Given the description of an element on the screen output the (x, y) to click on. 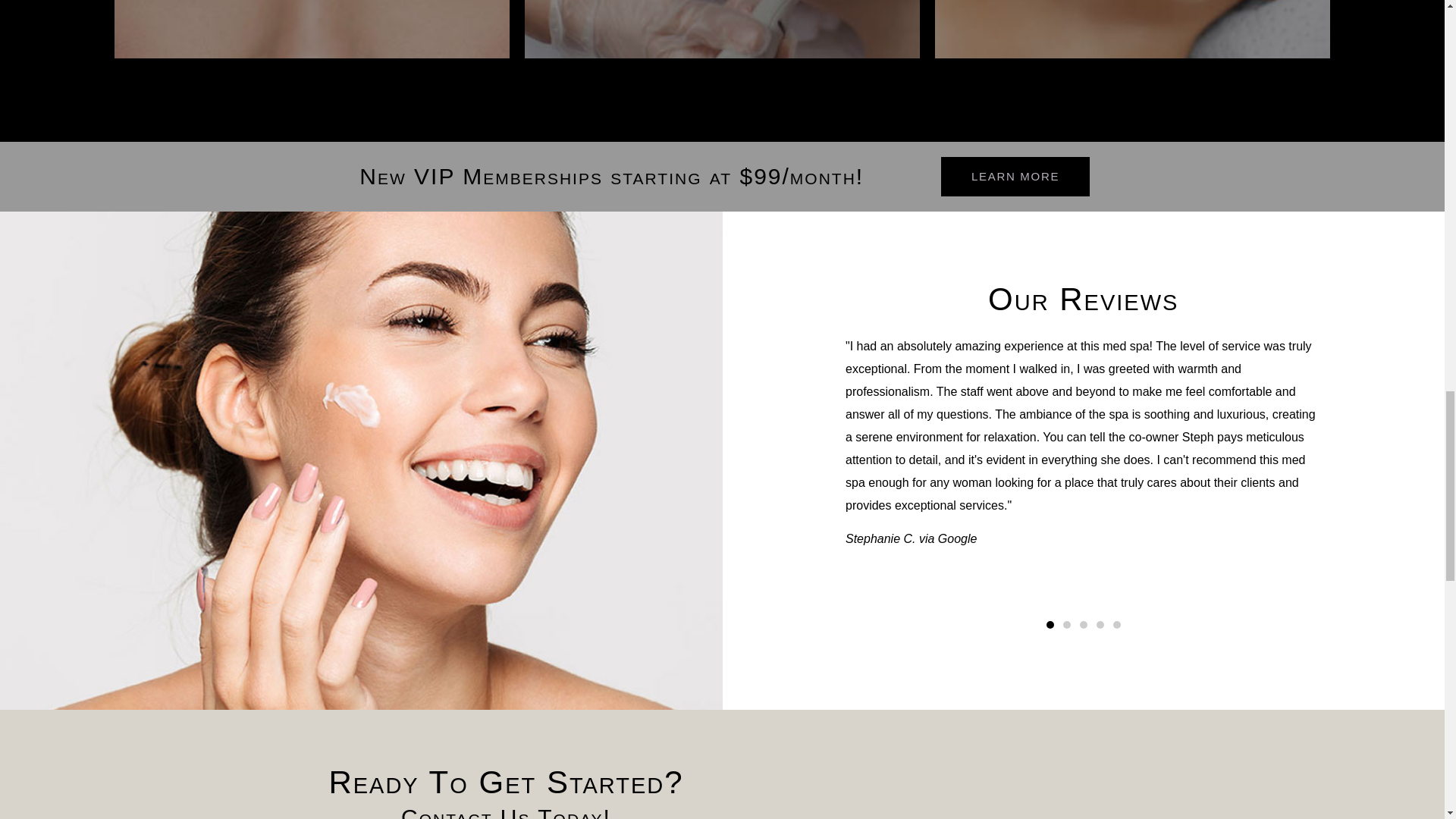
the med spa of flower mound (938, 800)
